Given the description of an element on the screen output the (x, y) to click on. 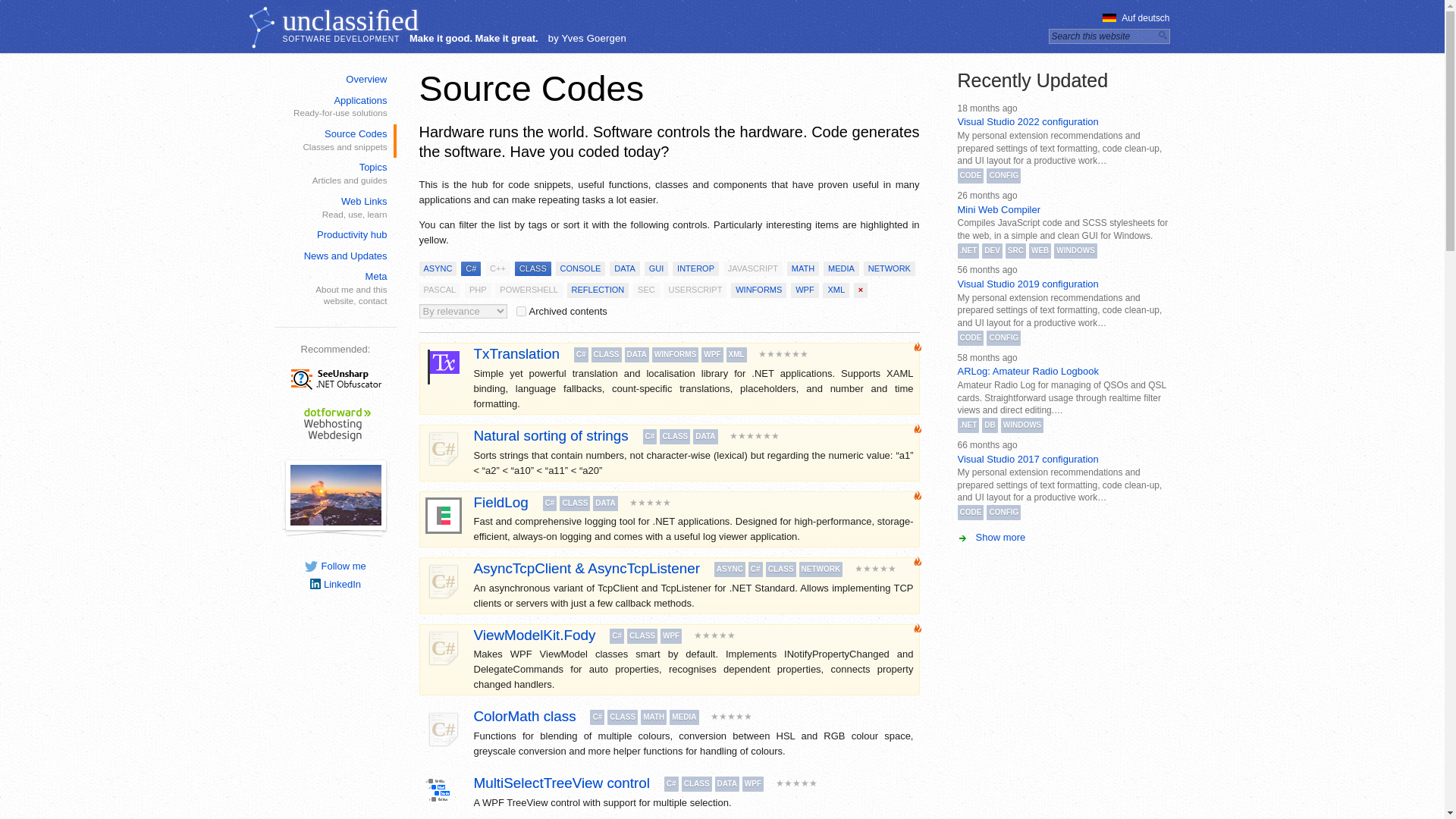
CONSOLE (580, 268)
ARLog: Amateur Radio Logbook (1062, 371)
Including source code (1016, 249)
LinkedIn (335, 583)
Visual Studio 2019 configuration (1062, 283)
Mini Web Compiler (1062, 209)
Configuration (335, 208)
Twitter profile (1003, 337)
LinkedIn profile (334, 565)
Content (335, 583)
MATH (327, 3)
MEDIA (802, 268)
Database applications (841, 268)
